Given the description of an element on the screen output the (x, y) to click on. 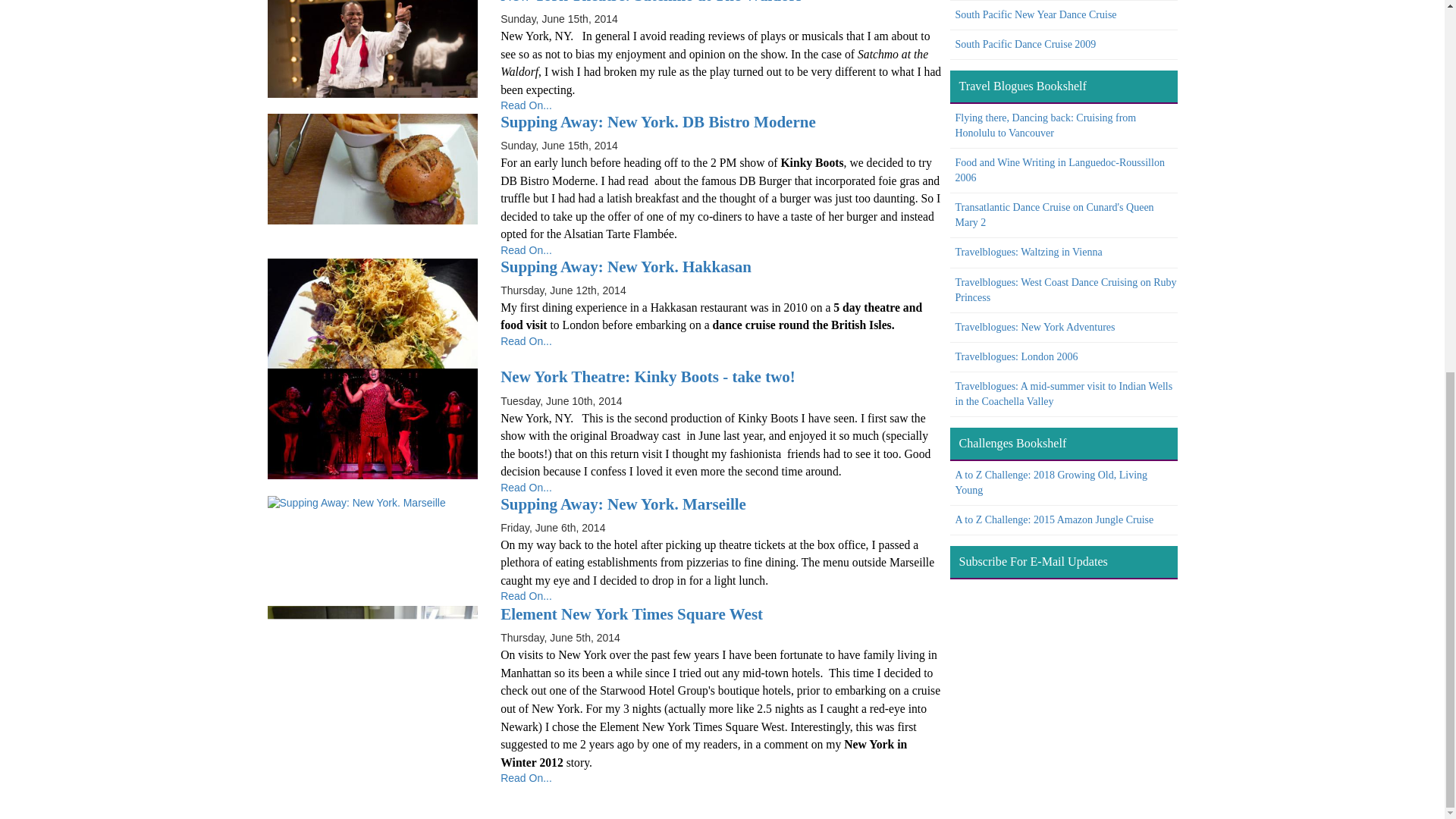
Supping Away: New York. Marseille (622, 504)
New York Theatre: Satchmo at The Waldorf  (371, 48)
Read On... (525, 340)
 Element New York Times Square West (371, 661)
New York Theatre: Kinky Boots - take two! (647, 376)
Read On... (525, 250)
Supping Away: New York. DB Bistro Moderne (371, 168)
Supping Away: New York. Marseille (371, 551)
Supping Away: New York. Hakkasan (371, 313)
New York Theatre: Satchmo at The Waldorf (651, 2)
